Given the description of an element on the screen output the (x, y) to click on. 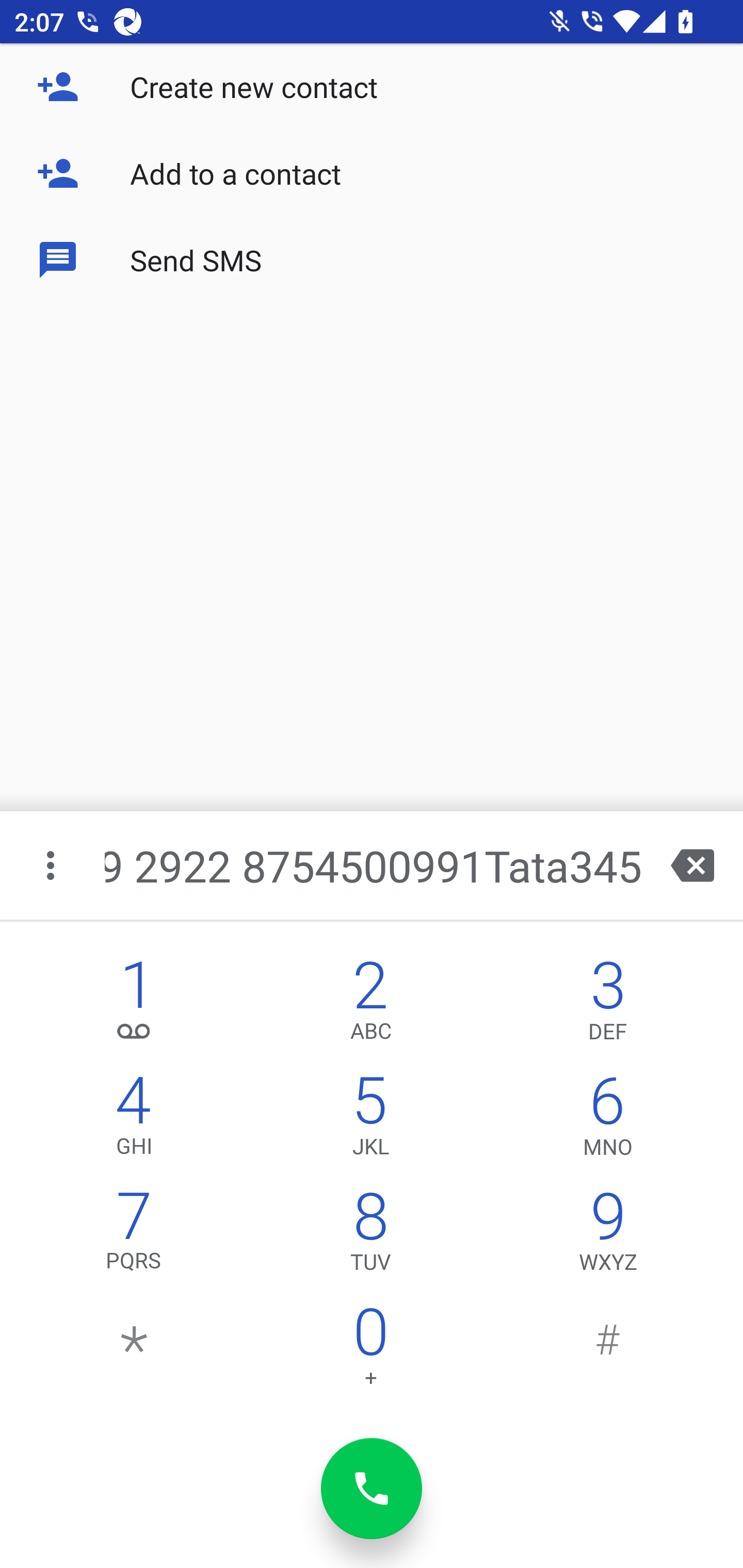
Create new contact (371, 86)
Add to a contact (371, 173)
Send SMS (371, 259)
+49 2922 8754500991Tata345 (372, 865)
backspace (692, 865)
More options (52, 865)
1, 1 (133, 1005)
2,ABC 2 ABC (370, 1005)
3,DEF 3 DEF (607, 1005)
4,GHI 4 GHI (133, 1120)
5,JKL 5 JKL (370, 1120)
6,MNO 6 MNO (607, 1120)
7,PQRS 7 PQRS (133, 1235)
8,TUV 8 TUV (370, 1235)
9,WXYZ 9 WXYZ (607, 1235)
* (133, 1351)
0 0 + (370, 1351)
# (607, 1351)
dial (371, 1488)
